Given the description of an element on the screen output the (x, y) to click on. 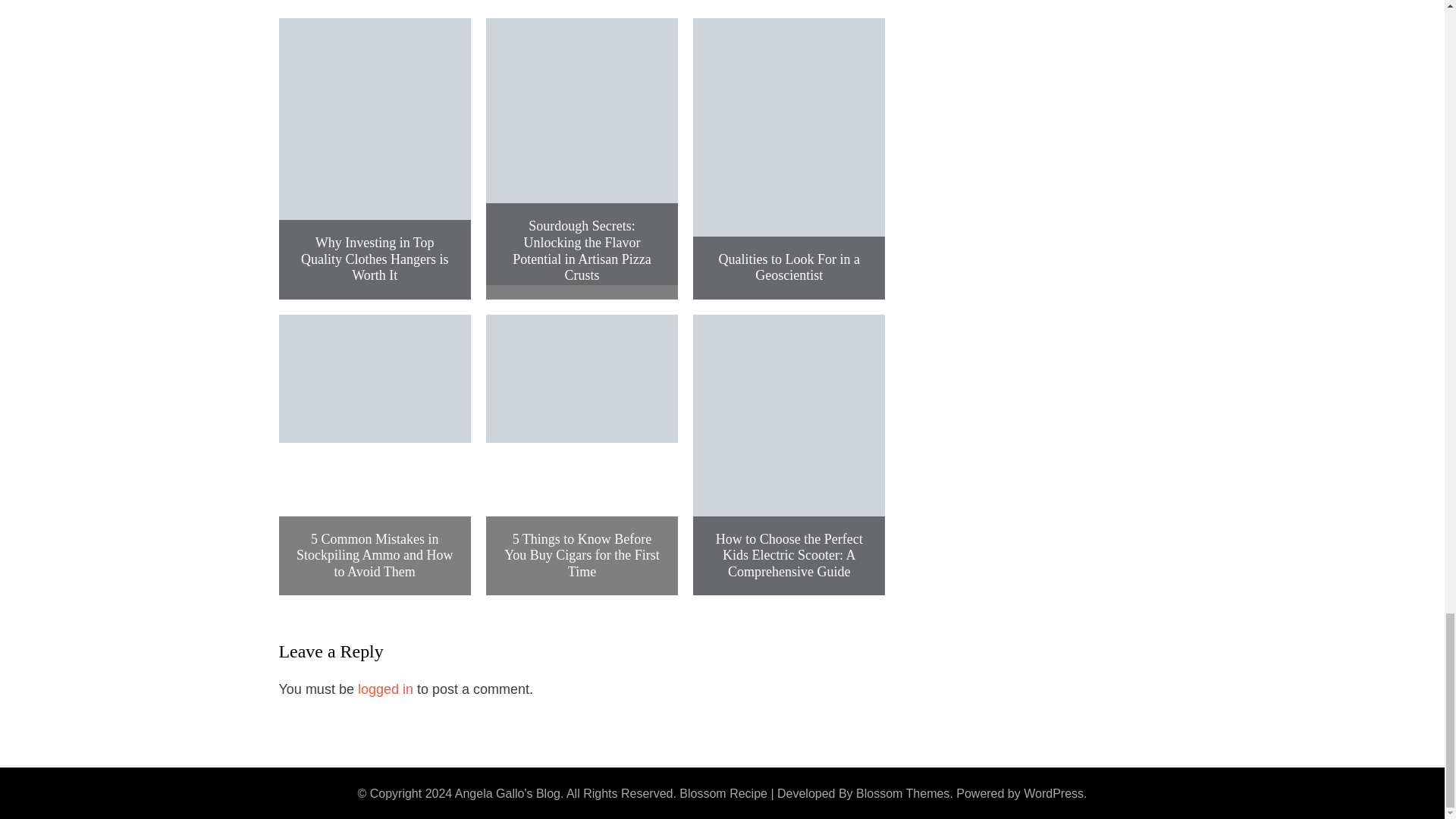
Qualities to Look For in a Geoscientist (788, 267)
Why Investing in Top Quality Clothes Hangers is Worth It (374, 259)
